Given the description of an element on the screen output the (x, y) to click on. 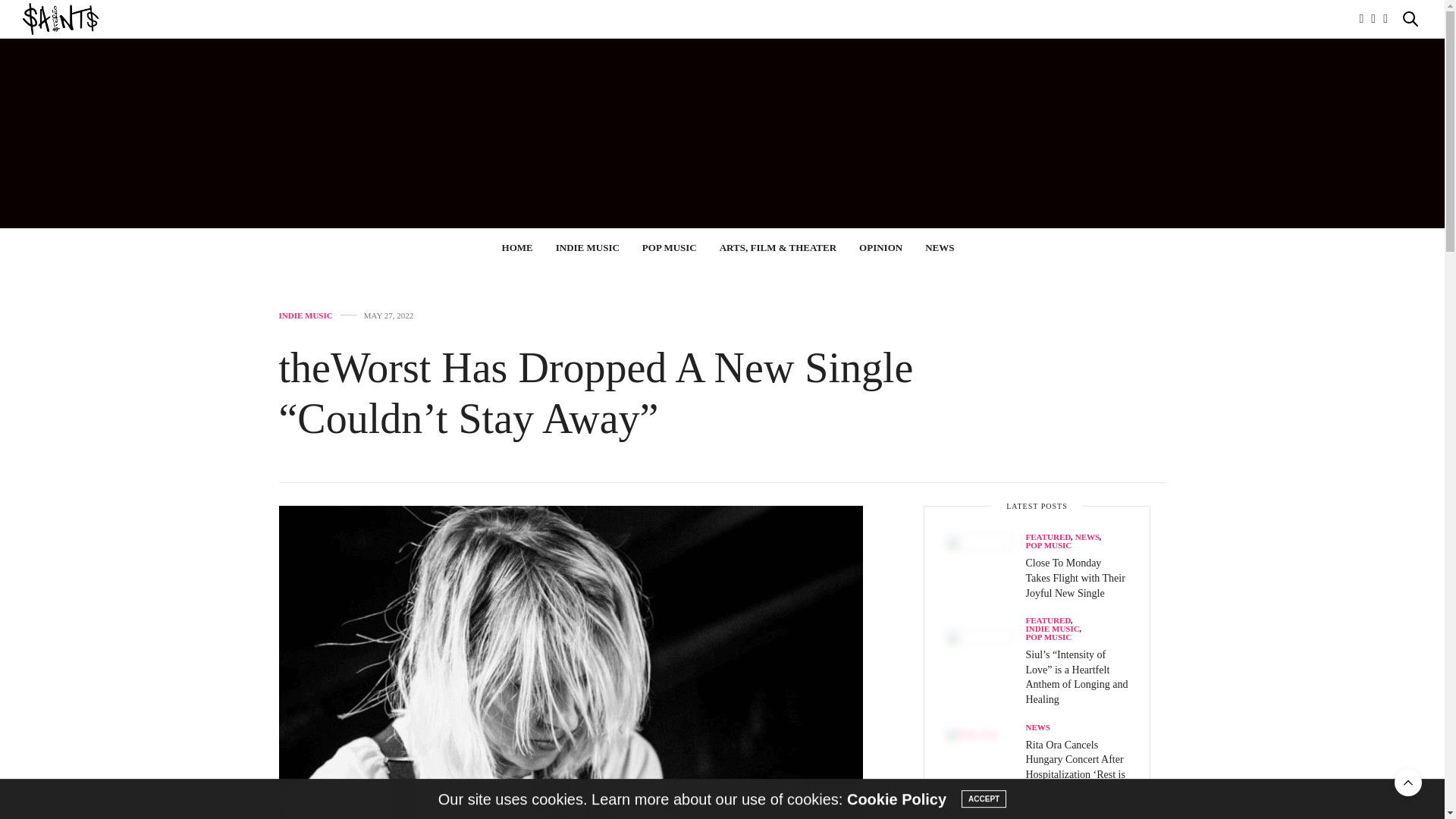
NEWS (1087, 537)
OPINION (880, 247)
Close To Monday Takes Flight with Their Joyful New Single (1074, 577)
Scroll To Top (1408, 782)
INDIE MUSIC (588, 247)
INDIE MUSIC (306, 316)
POP MUSIC (669, 247)
FEATURED (1047, 537)
Close To Monday Takes Flight with Their Joyful New Single (986, 568)
